Given the description of an element on the screen output the (x, y) to click on. 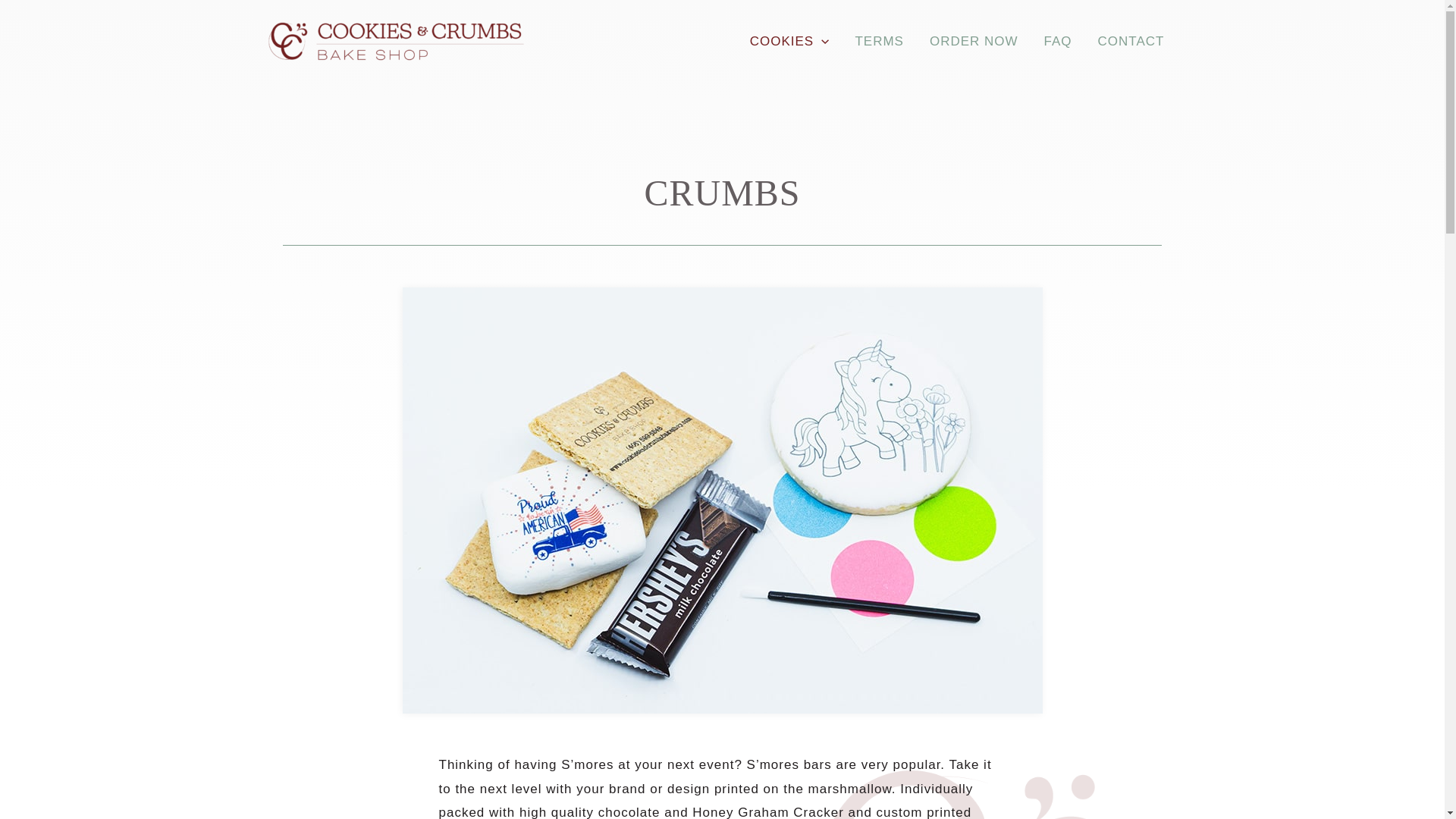
TERMS (879, 41)
ORDER NOW (973, 41)
CONTACT (1130, 41)
COOKIES (789, 41)
